Given the description of an element on the screen output the (x, y) to click on. 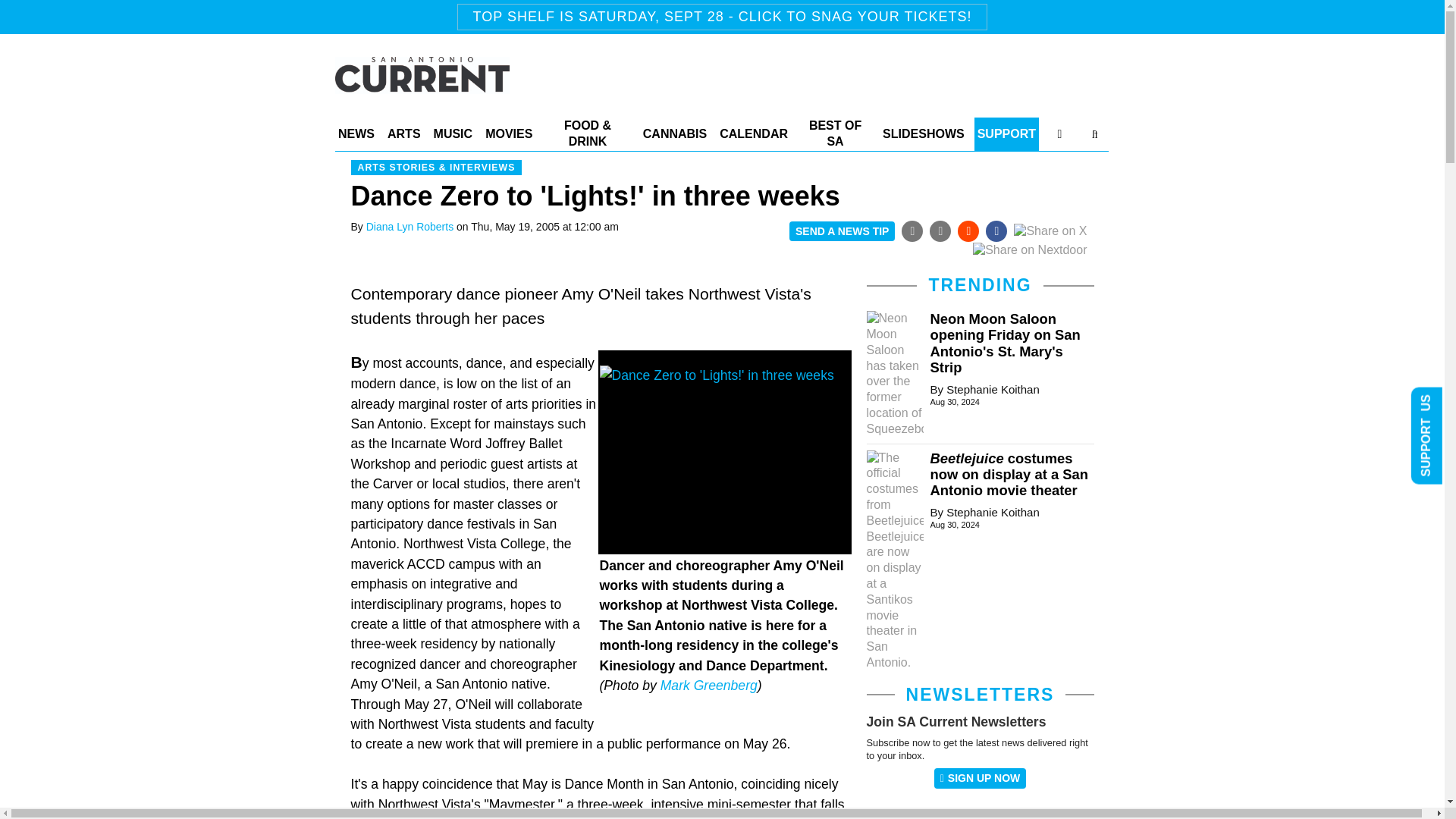
MUSIC (453, 133)
ARTS (403, 133)
TOP SHELF IS SATURDAY, SEPT 28 - CLICK TO SNAG YOUR TICKETS! (722, 17)
San Antonio Current (421, 85)
MOVIES (508, 133)
